Given the description of an element on the screen output the (x, y) to click on. 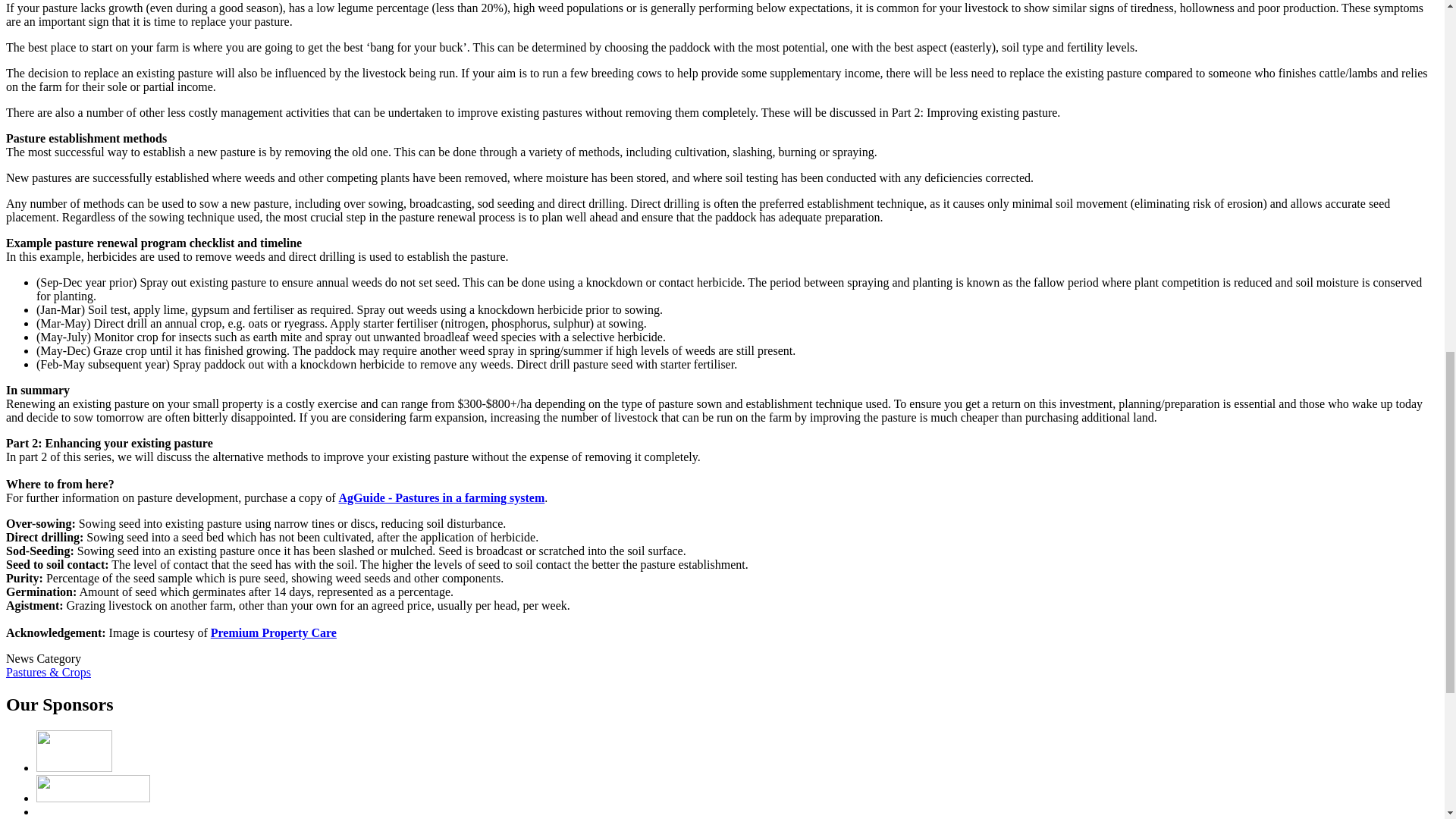
AgGuide - Pastures in a farming system (441, 497)
